Given the description of an element on the screen output the (x, y) to click on. 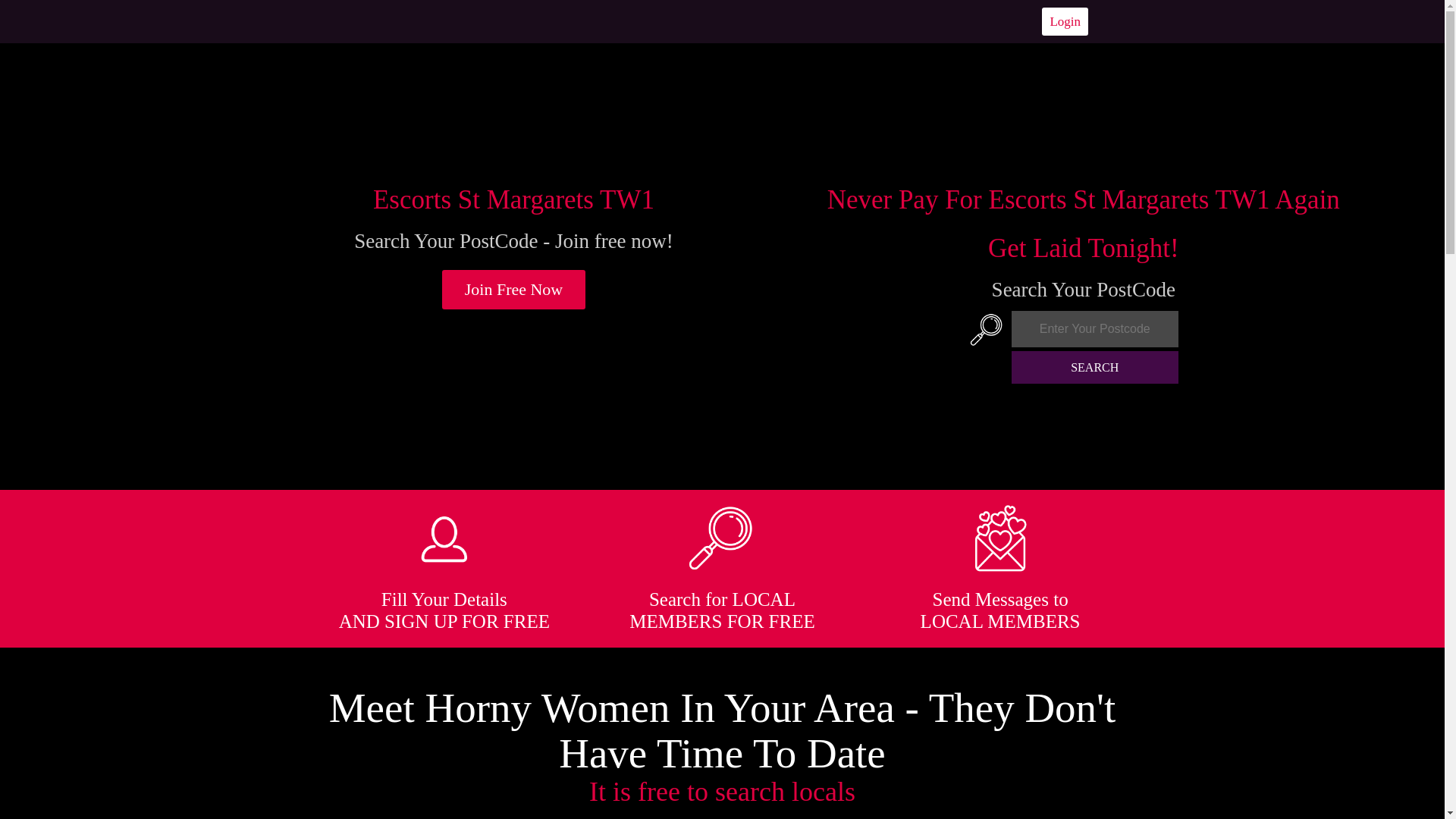
Login (1064, 21)
Join Free Now (514, 289)
Login to escort-london.uk (1064, 21)
Join (514, 289)
SEARCH (1094, 367)
